Given the description of an element on the screen output the (x, y) to click on. 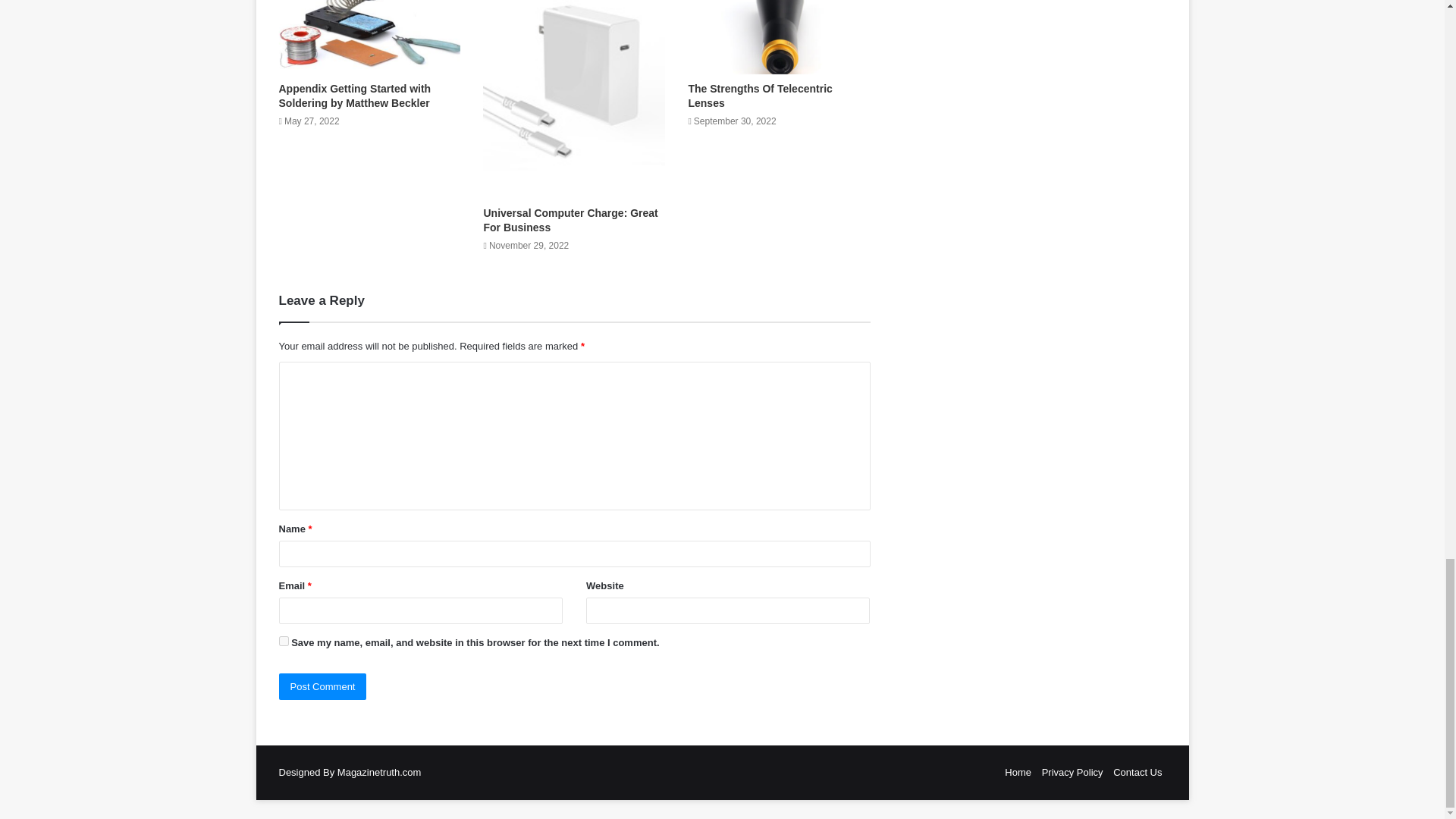
Appendix Getting Started with Soldering by Matthew Beckler (354, 95)
yes (283, 641)
Universal Computer Charge: Great For Business (570, 220)
Post Comment (322, 686)
